Given the description of an element on the screen output the (x, y) to click on. 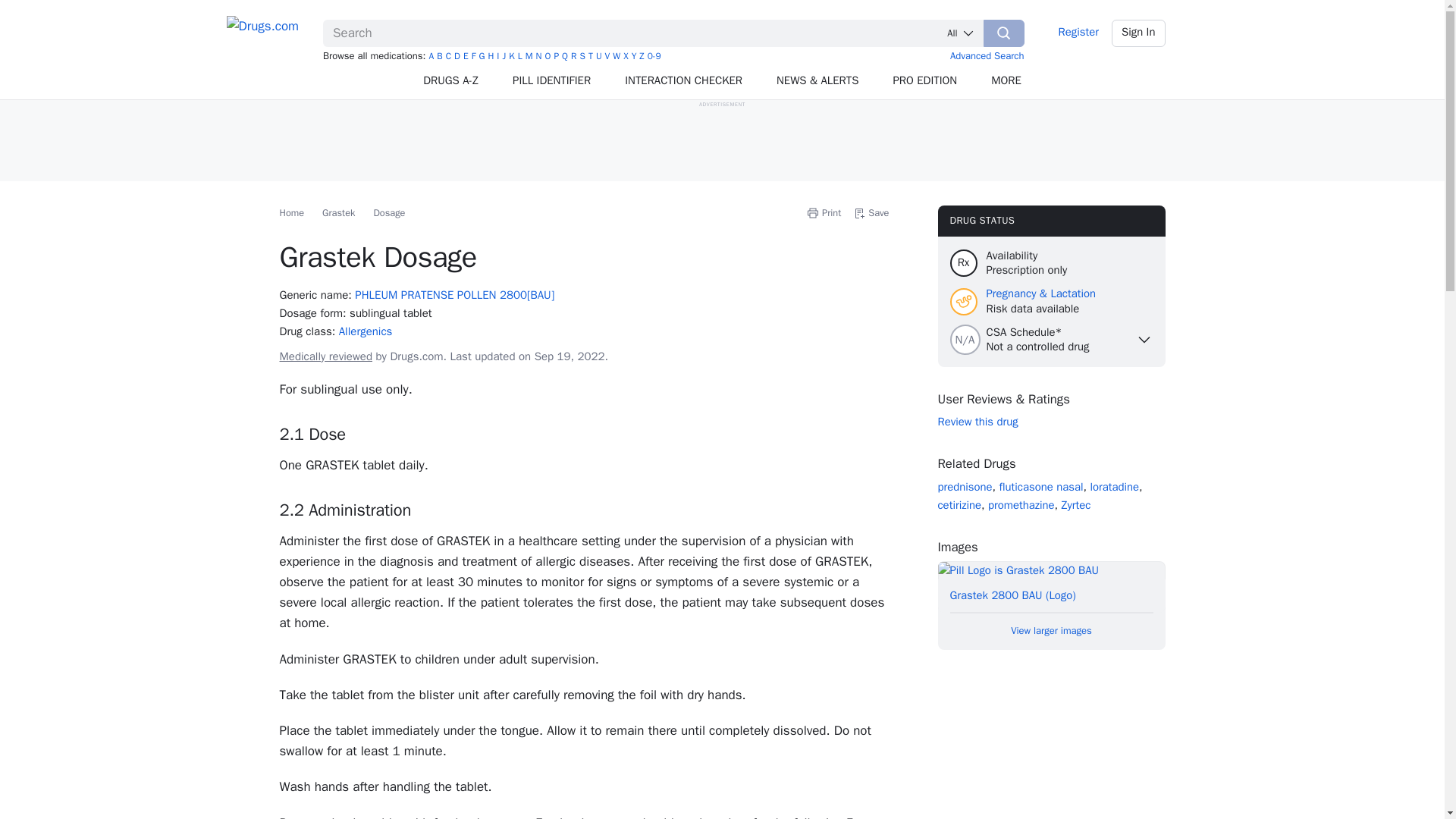
Register (1078, 32)
0-9 (654, 55)
Search (1004, 32)
View larger image (1050, 586)
Sign In (1139, 32)
PILL IDENTIFIER (551, 81)
DRUGS A-Z (450, 81)
Advanced Search (987, 55)
